Given the description of an element on the screen output the (x, y) to click on. 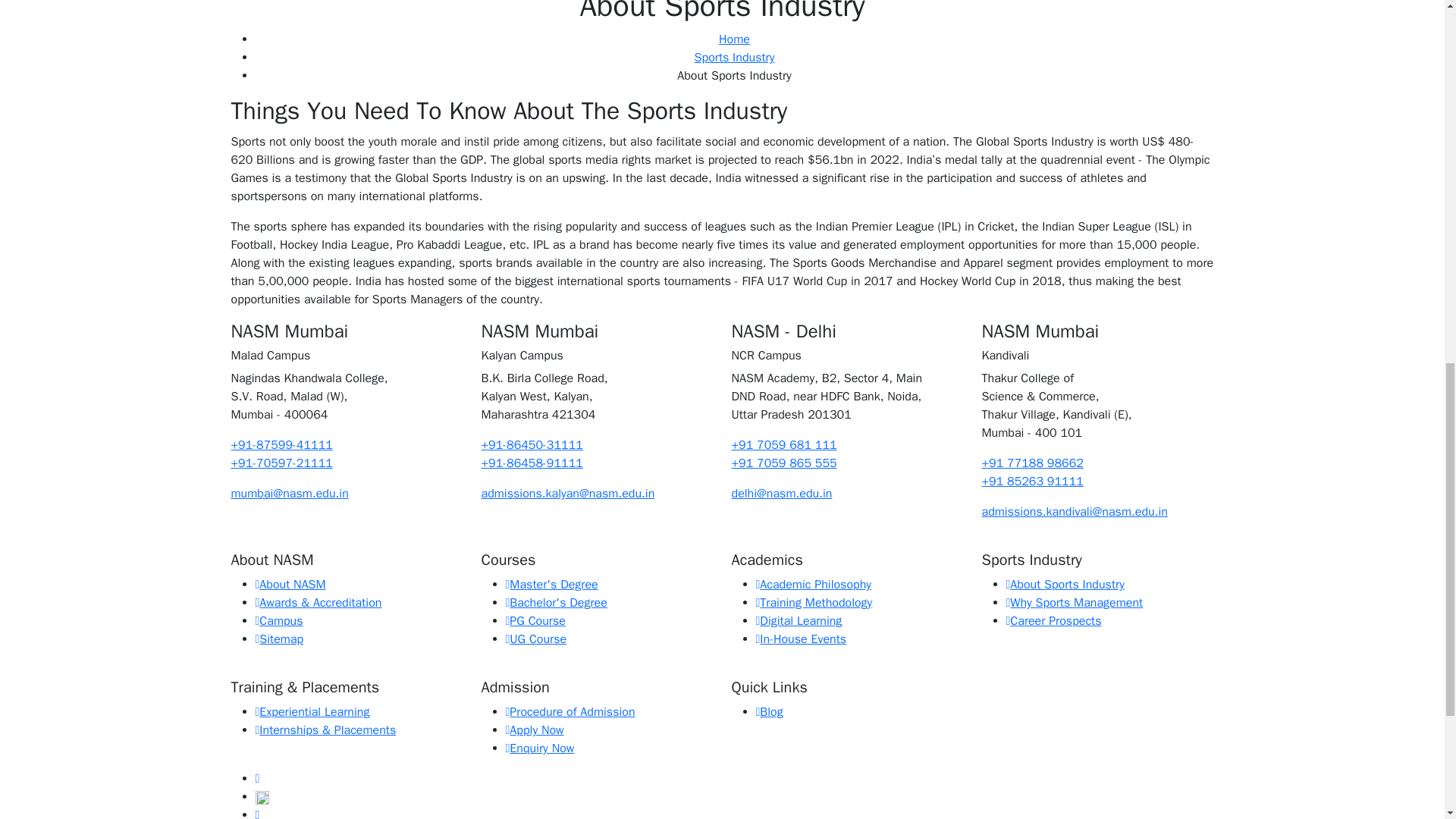
Instagram (260, 796)
